Given the description of an element on the screen output the (x, y) to click on. 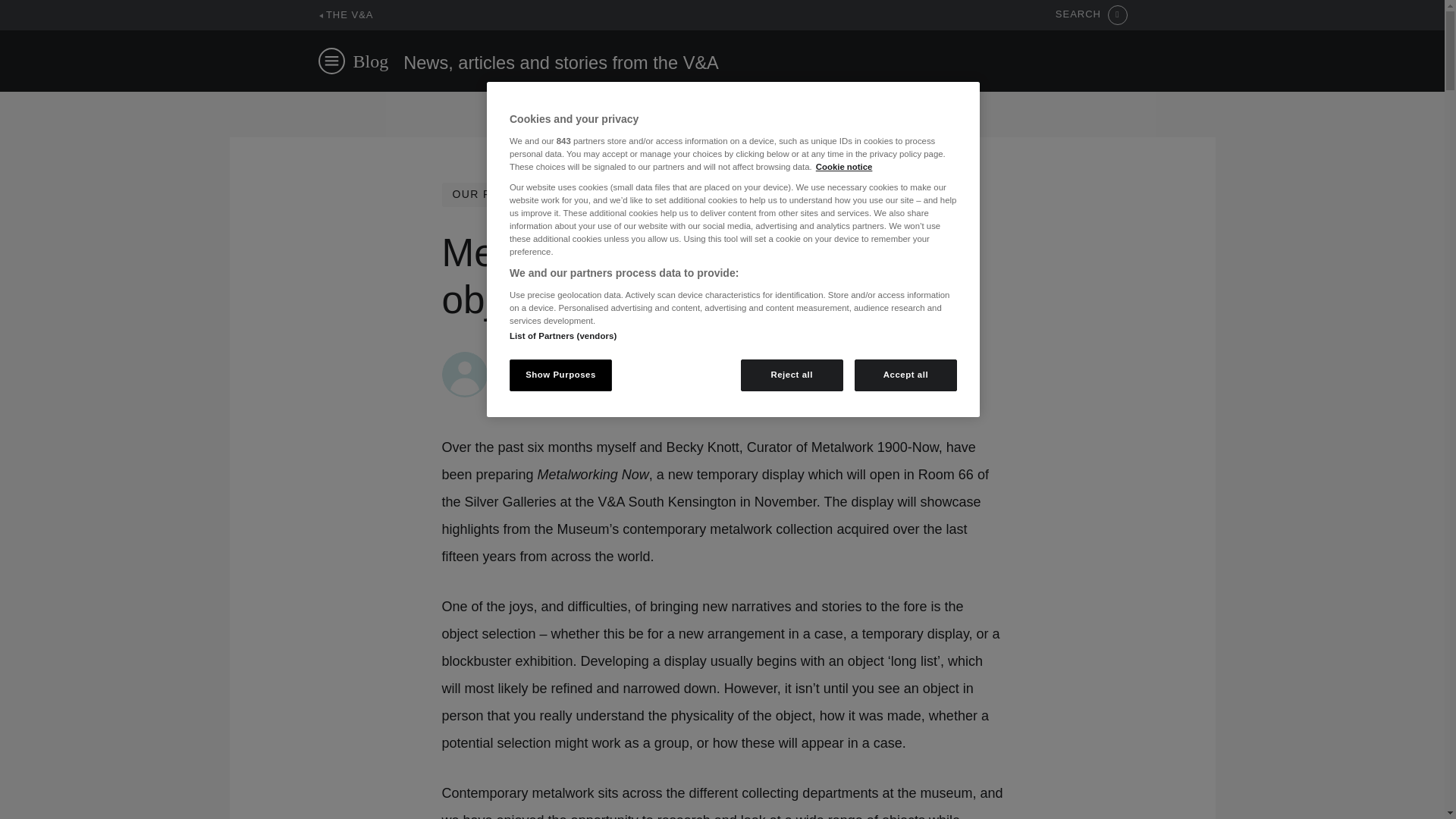
Blog (370, 60)
SEARCH (1090, 15)
Clementine Loustric (550, 359)
OUR PROJECTS (499, 194)
Posts by Clementine Loustric (550, 359)
